Given the description of an element on the screen output the (x, y) to click on. 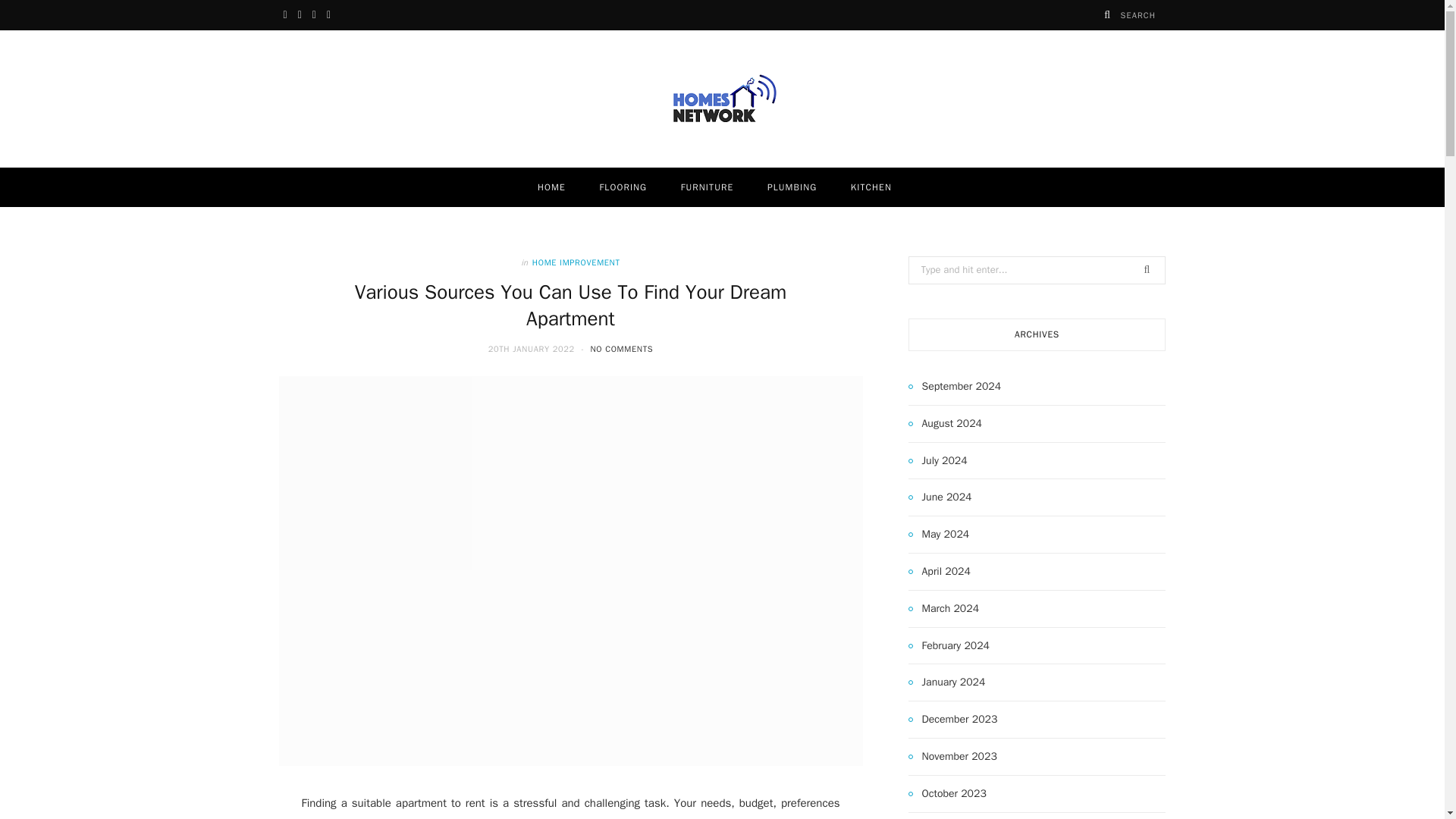
September 2024 (954, 386)
KITCHEN (871, 187)
November 2023 (952, 756)
August 2024 (944, 423)
May 2024 (938, 534)
April 2024 (939, 571)
October 2023 (947, 793)
HOME (551, 187)
March 2024 (943, 608)
Homes Network (721, 99)
